Given the description of an element on the screen output the (x, y) to click on. 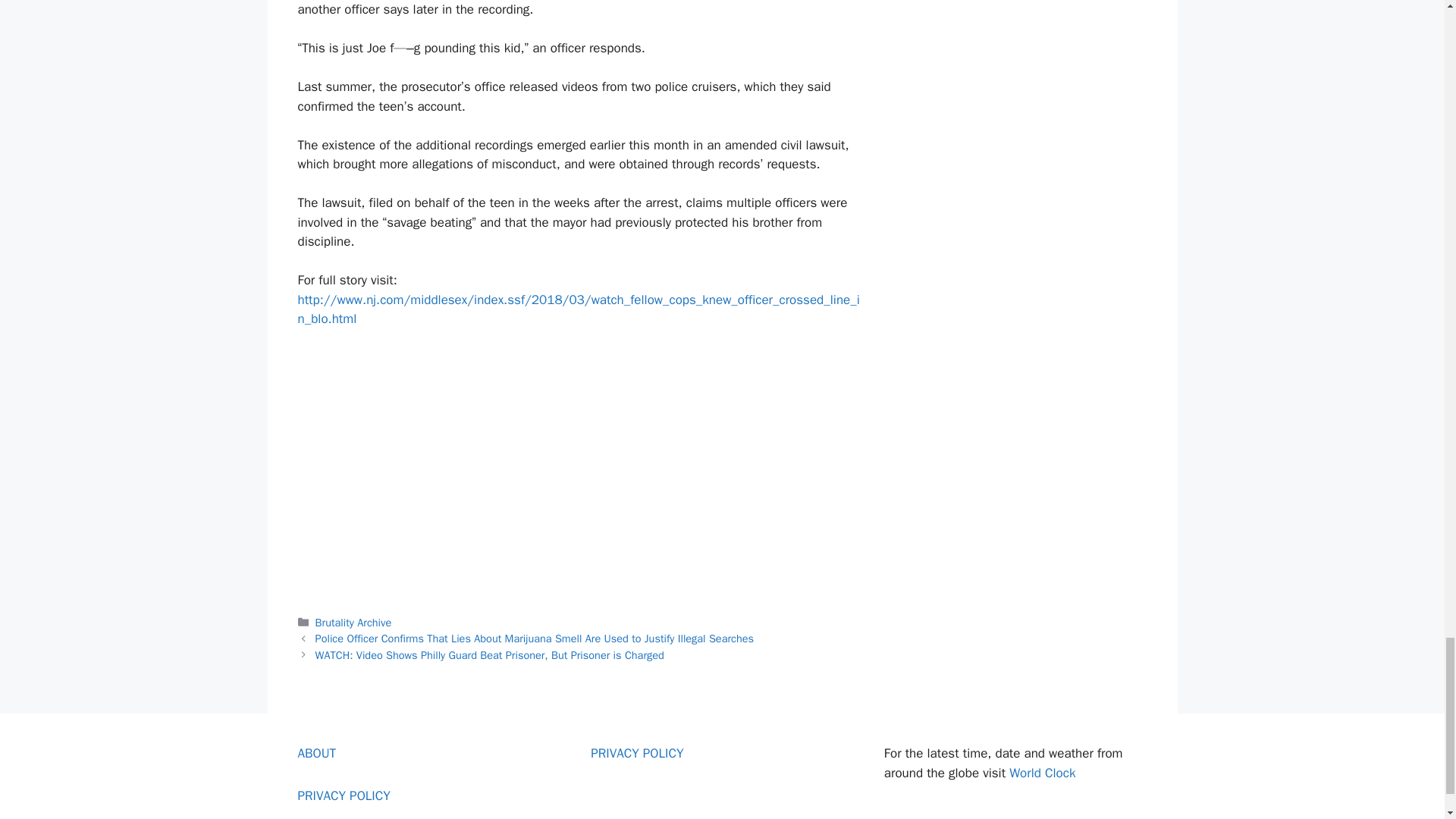
Brutality Archive (353, 622)
World Clock (1042, 772)
ABOUT (316, 753)
PRIVACY POLICY (343, 795)
PRIVACY POLICY (636, 753)
